Given the description of an element on the screen output the (x, y) to click on. 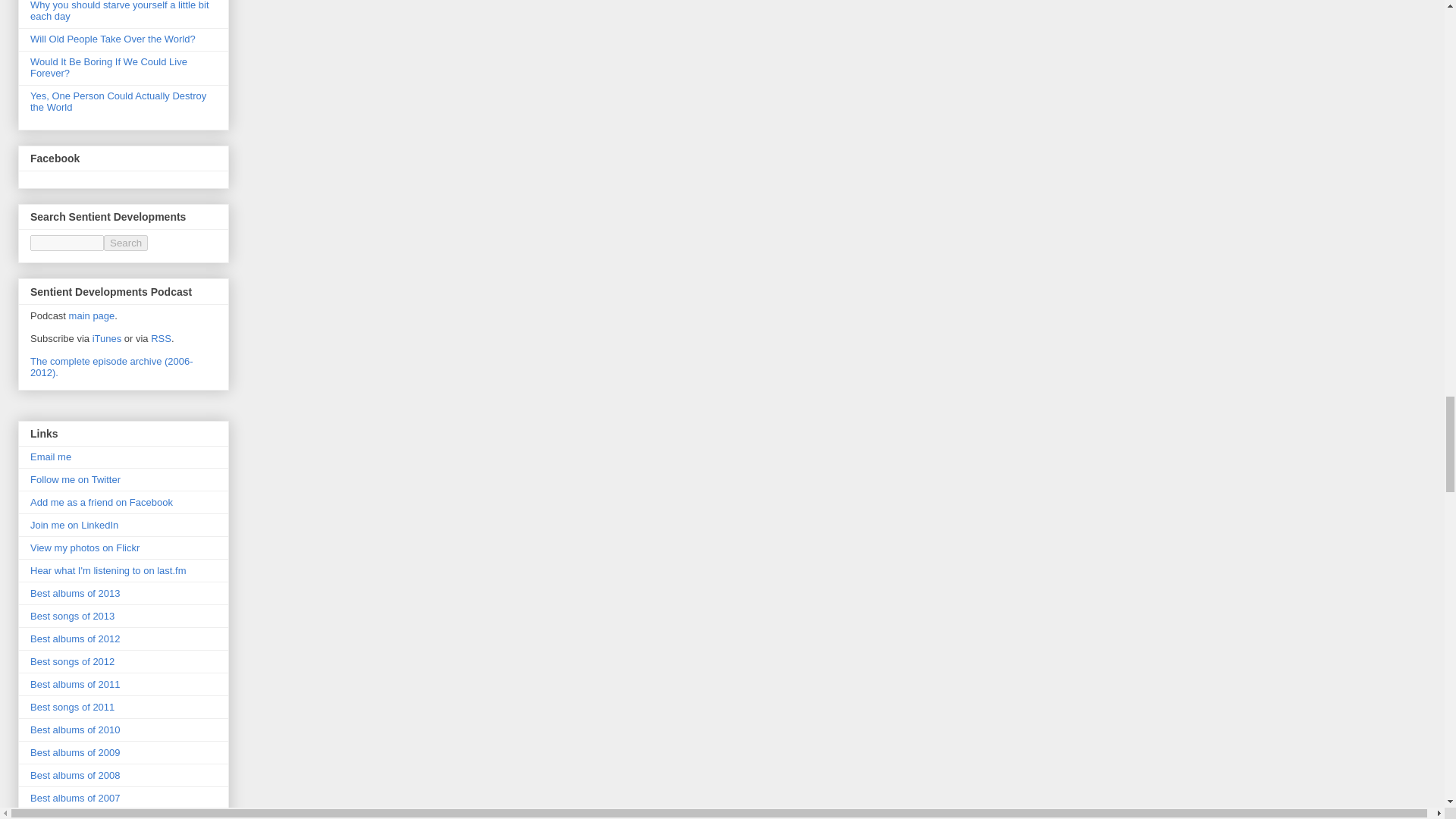
Search (125, 242)
Search (125, 242)
search (66, 242)
